Given the description of an element on the screen output the (x, y) to click on. 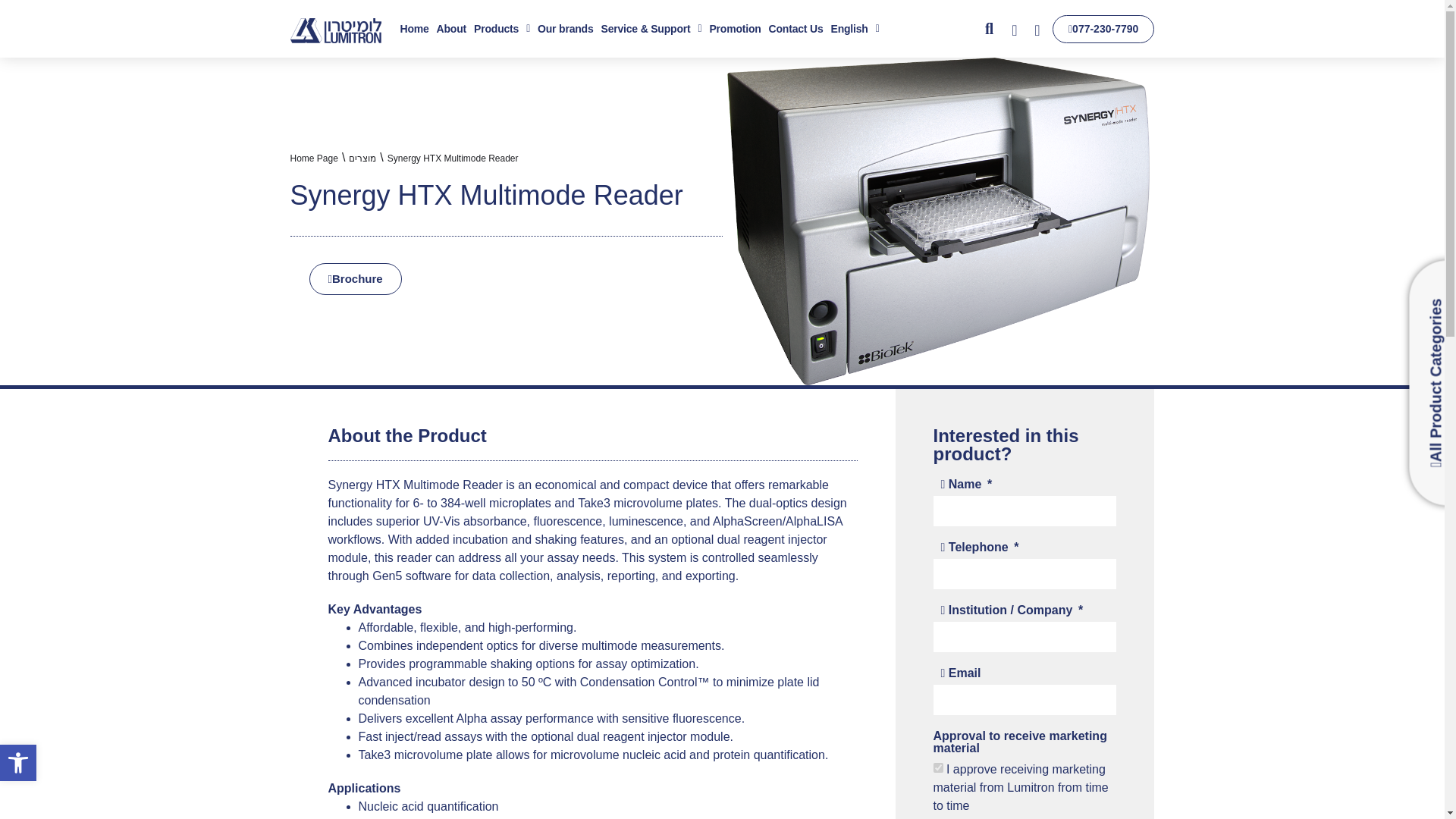
Our brands (565, 28)
on (937, 767)
Home (414, 28)
Products (502, 28)
Promotion (734, 28)
English (855, 28)
Contact Us (796, 28)
About (451, 28)
English (855, 28)
